Given the description of an element on the screen output the (x, y) to click on. 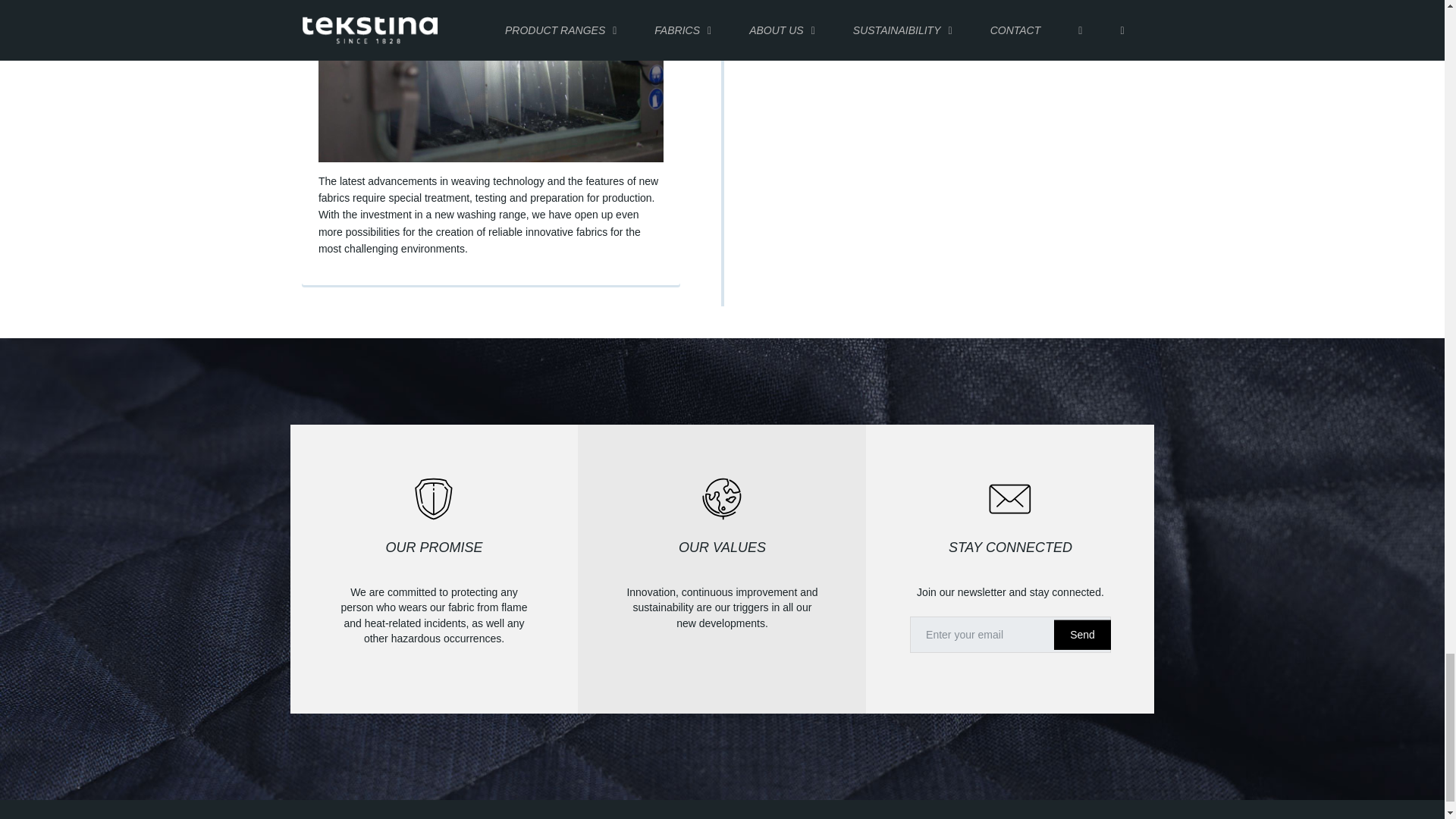
Send (1082, 634)
Send (1082, 634)
